Given the description of an element on the screen output the (x, y) to click on. 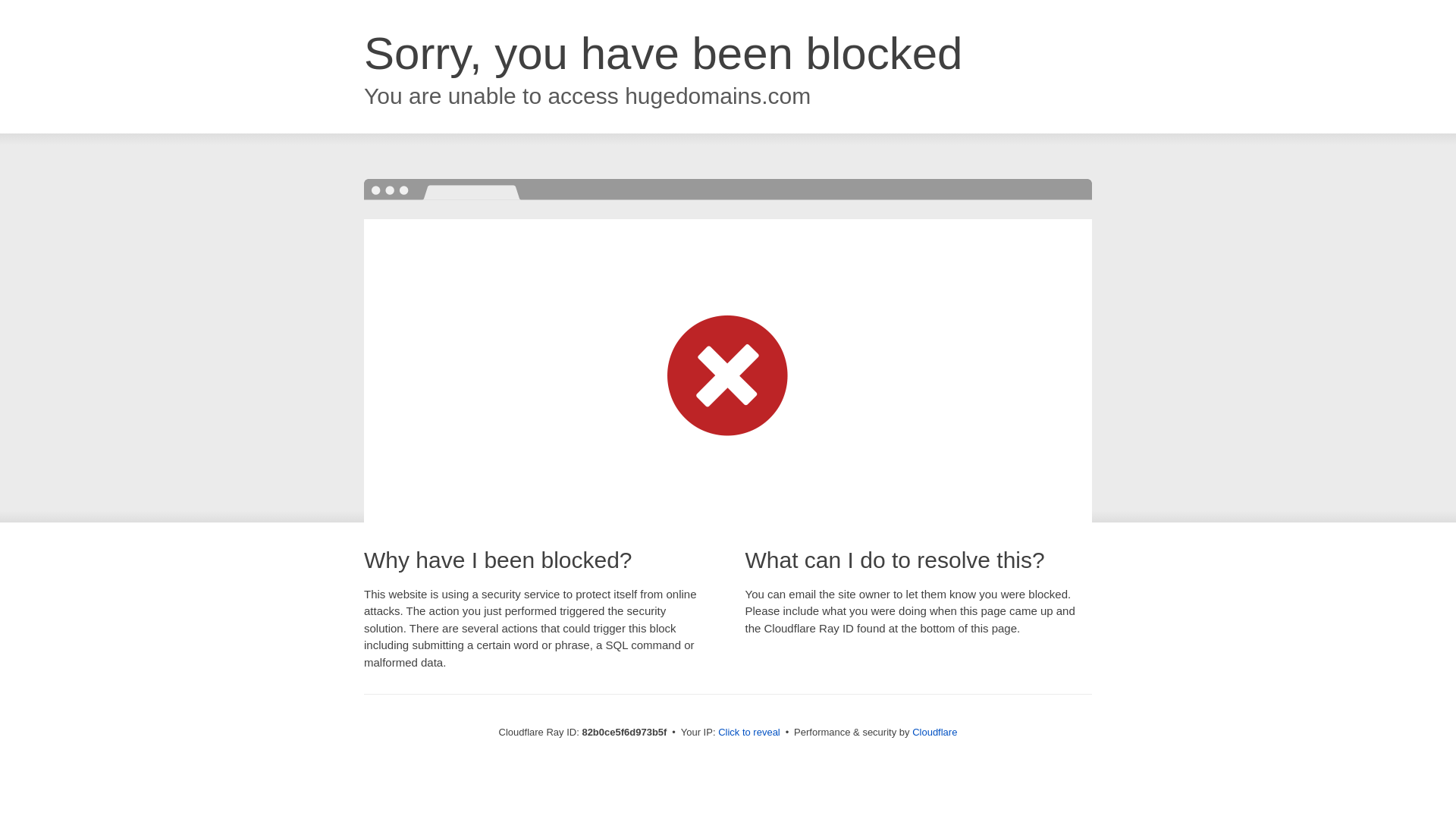
Click to reveal Element type: text (749, 732)
Cloudflare Element type: text (934, 731)
